Given the description of an element on the screen output the (x, y) to click on. 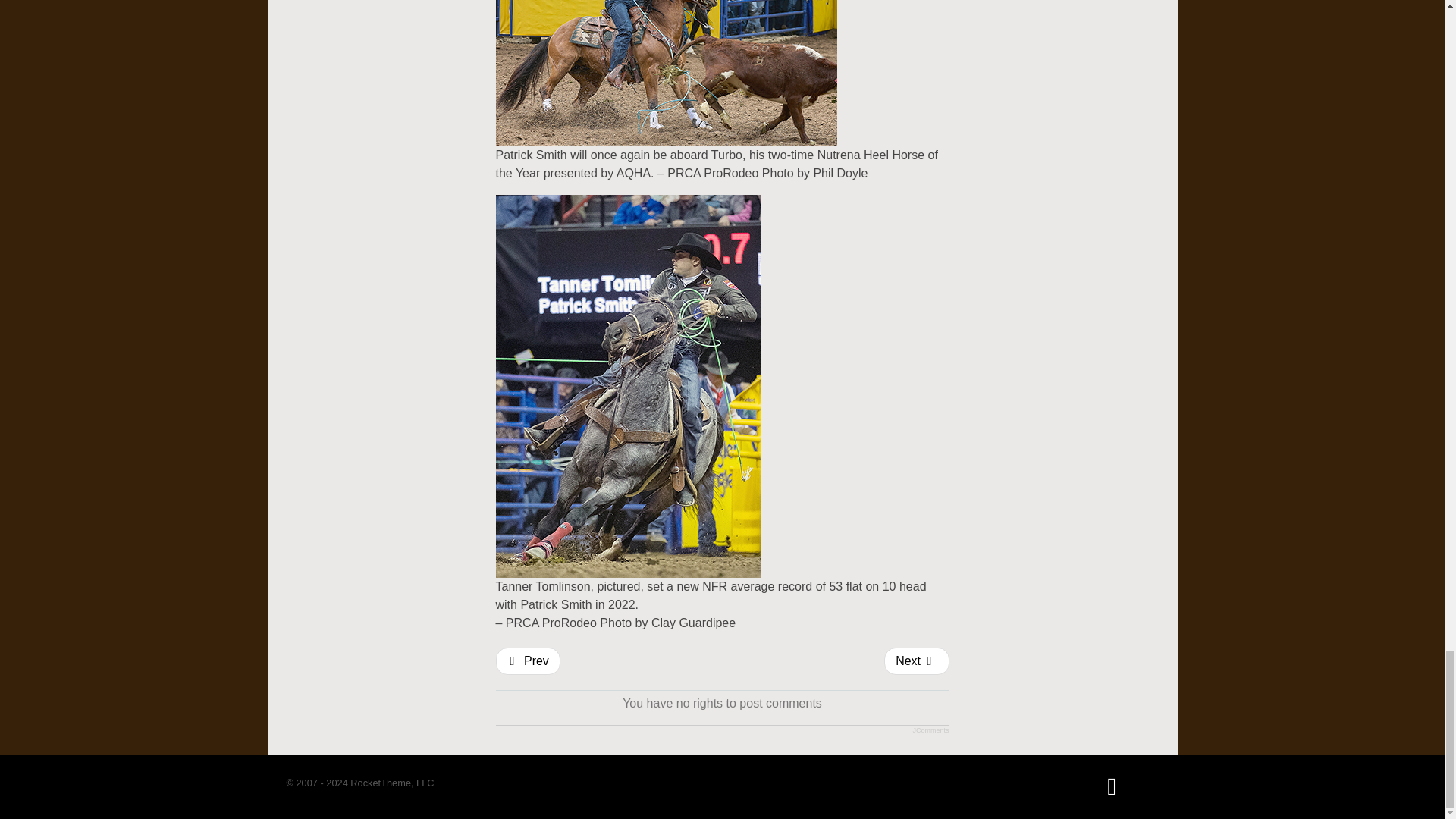
JComments (930, 729)
